Given the description of an element on the screen output the (x, y) to click on. 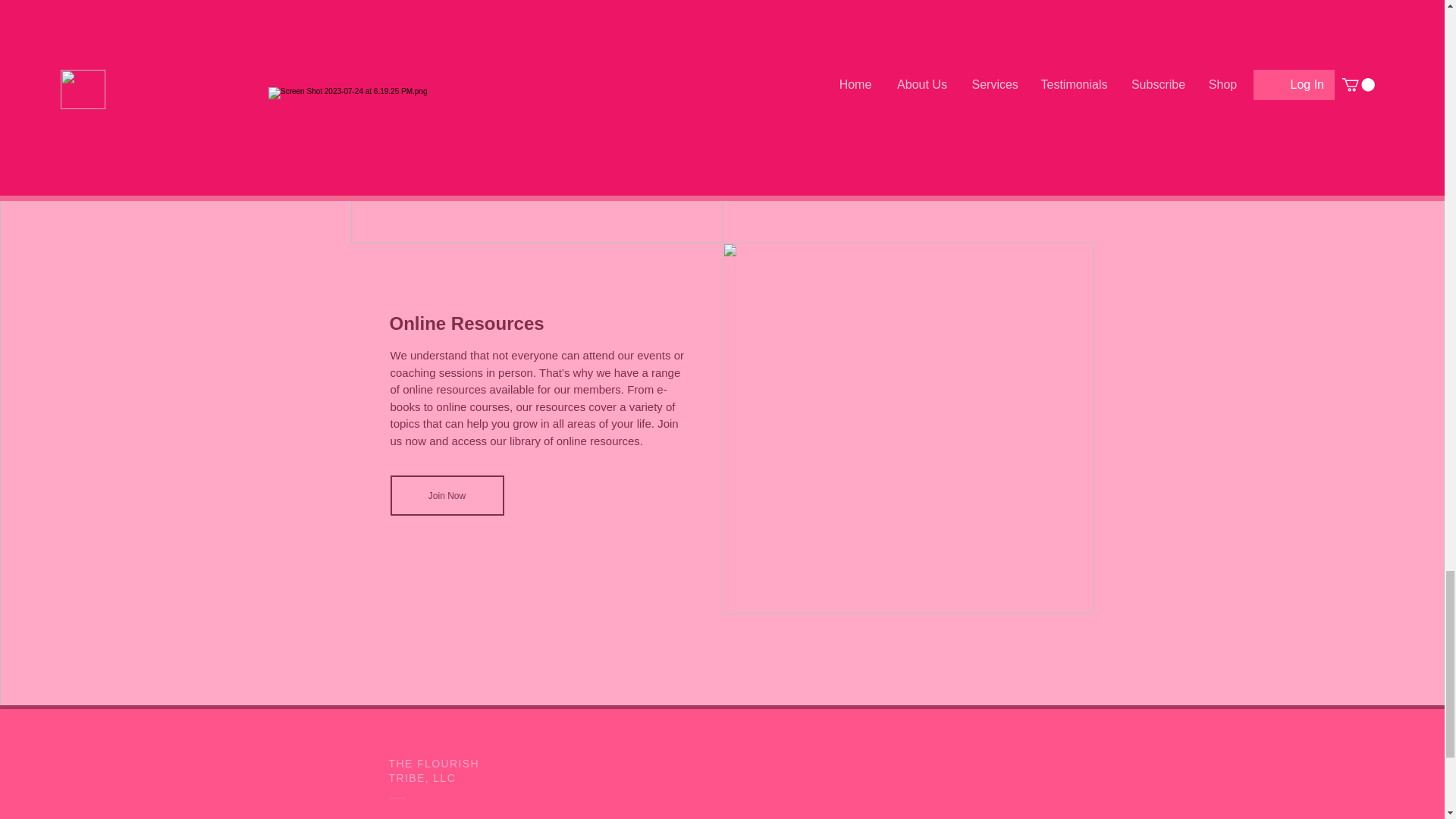
Join Now (446, 495)
Join Now (818, 124)
